Given the description of an element on the screen output the (x, y) to click on. 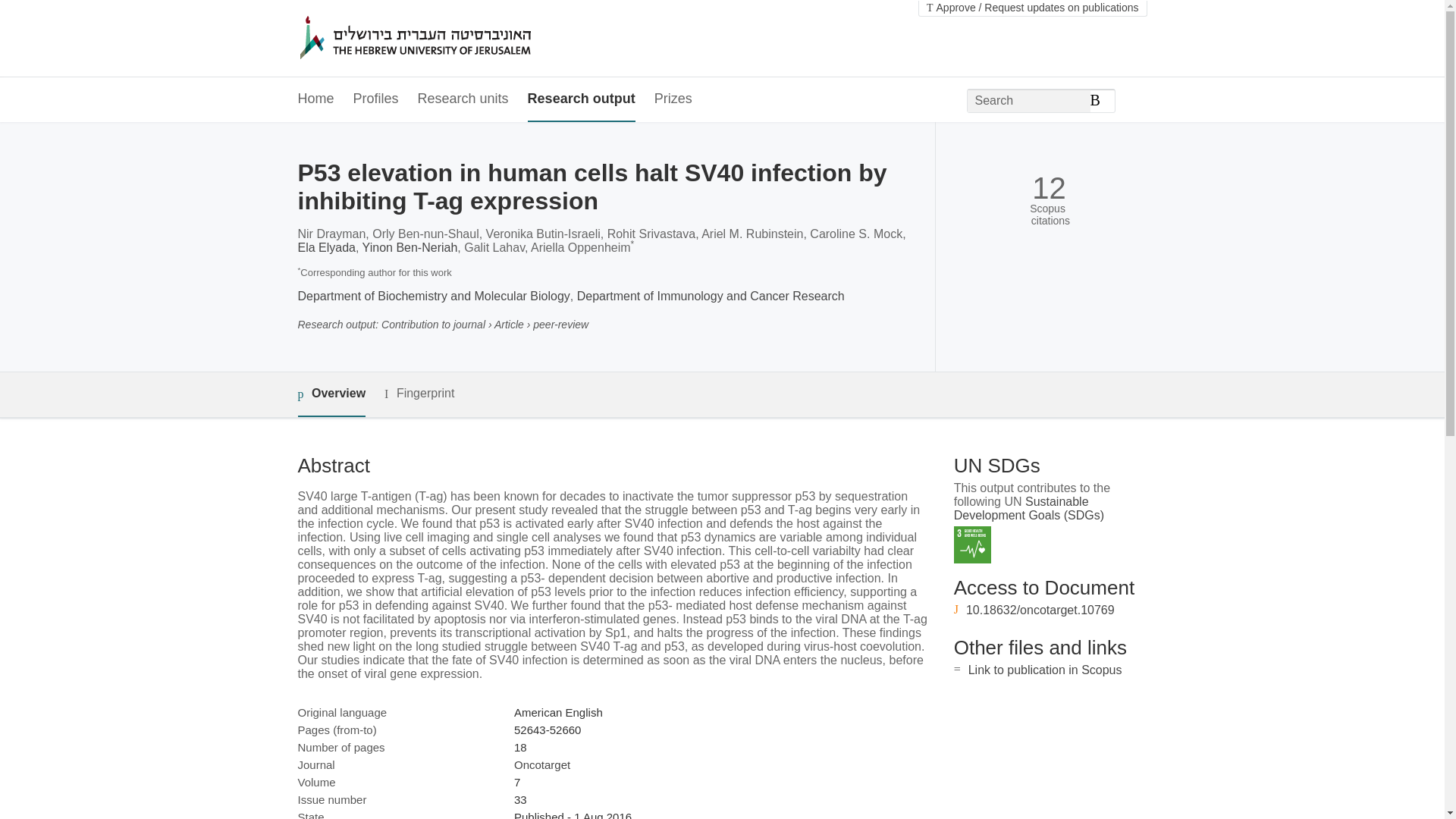
Profiles (375, 99)
The Hebrew University of Jerusalem Home (447, 38)
Fingerprint (419, 393)
Oncotarget (541, 764)
Overview (331, 394)
Research output (580, 99)
Department of Immunology and Cancer Research (710, 295)
Link to publication in Scopus (1045, 669)
SDG 3 - Good Health and Well-being (972, 544)
Yinon Ben-Neriah (410, 246)
Department of Biochemistry and Molecular Biology (433, 295)
Research units (462, 99)
Ela Elyada (326, 246)
